Given the description of an element on the screen output the (x, y) to click on. 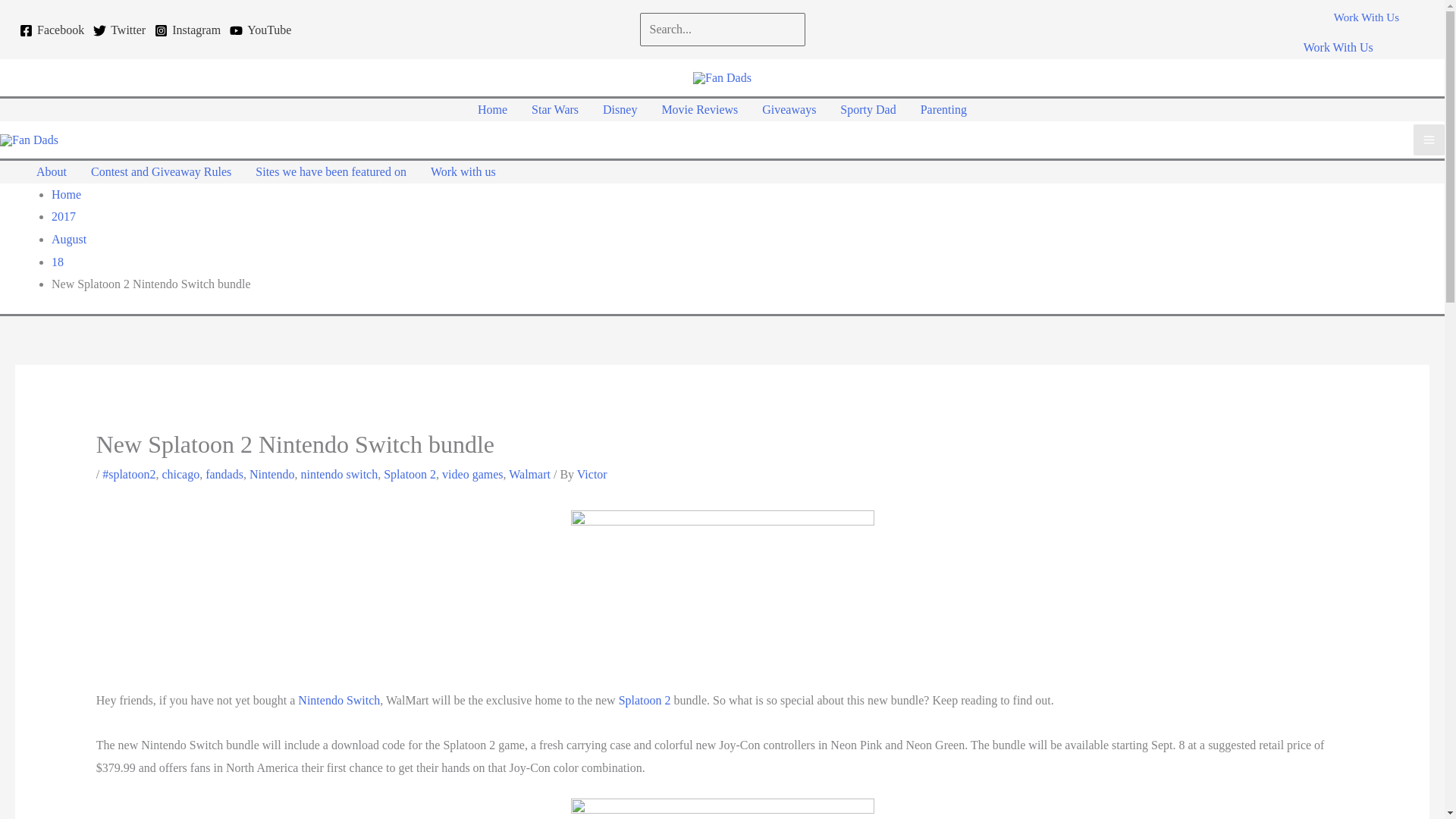
August (67, 238)
View all posts by Victor (591, 473)
Home (65, 194)
Work with us (463, 171)
Movie Reviews (699, 109)
Work With Us (1338, 47)
Splatoon 2 (409, 473)
chicago (180, 473)
Disney (620, 109)
Parenting (943, 109)
video games (472, 473)
Instagram (187, 30)
2017 (62, 215)
fandads (224, 473)
Nintendo Switch (339, 699)
